Given the description of an element on the screen output the (x, y) to click on. 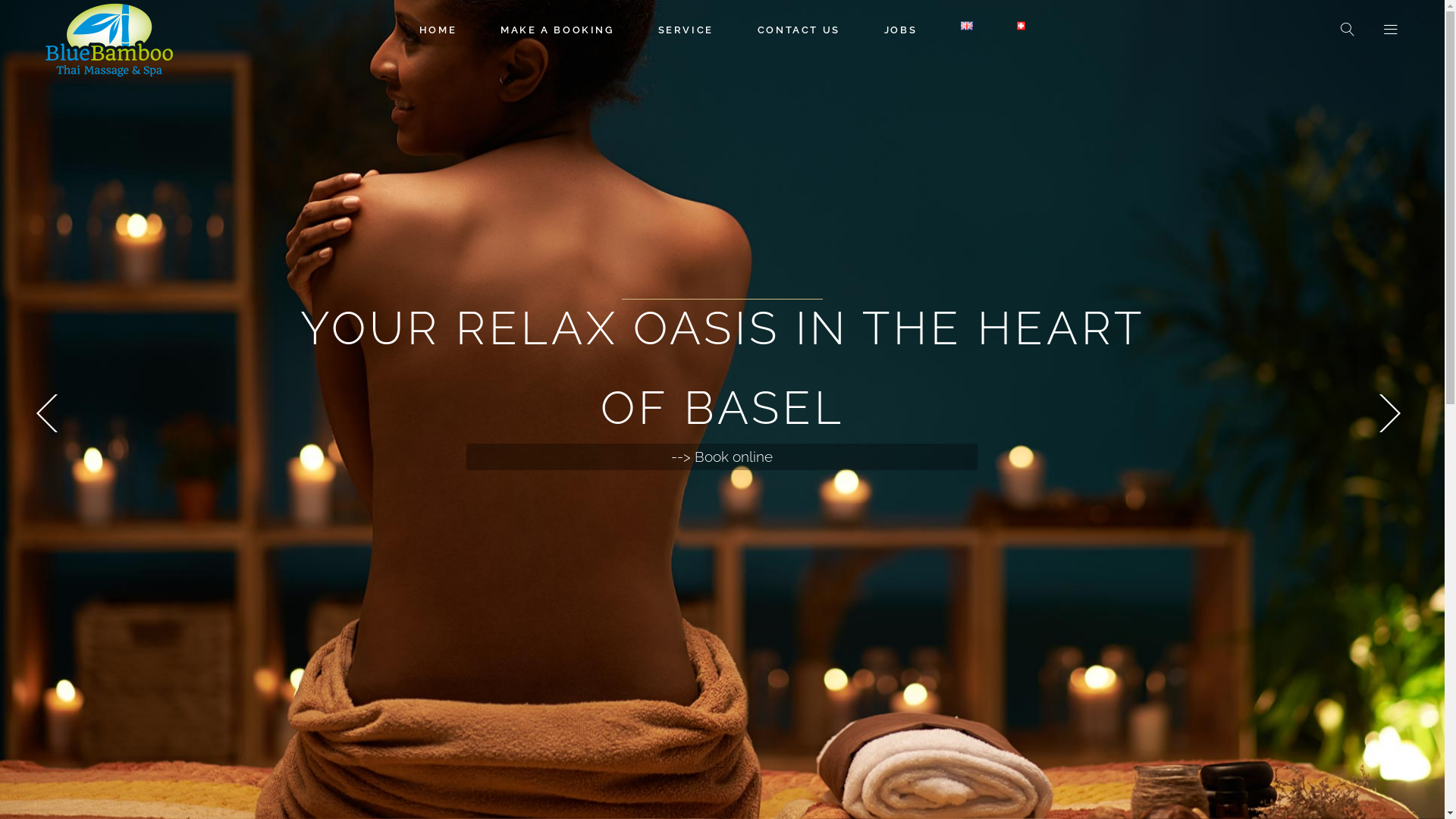
SERVICE Element type: text (685, 30)
--> Book online Element type: text (721, 456)
MAKE A BOOKING Element type: text (556, 30)
JOBS Element type: text (900, 30)
English Element type: hover (966, 25)
Deutsch Element type: hover (1020, 25)
CONTACT US Element type: text (798, 30)
HOME Element type: text (437, 30)
